Given the description of an element on the screen output the (x, y) to click on. 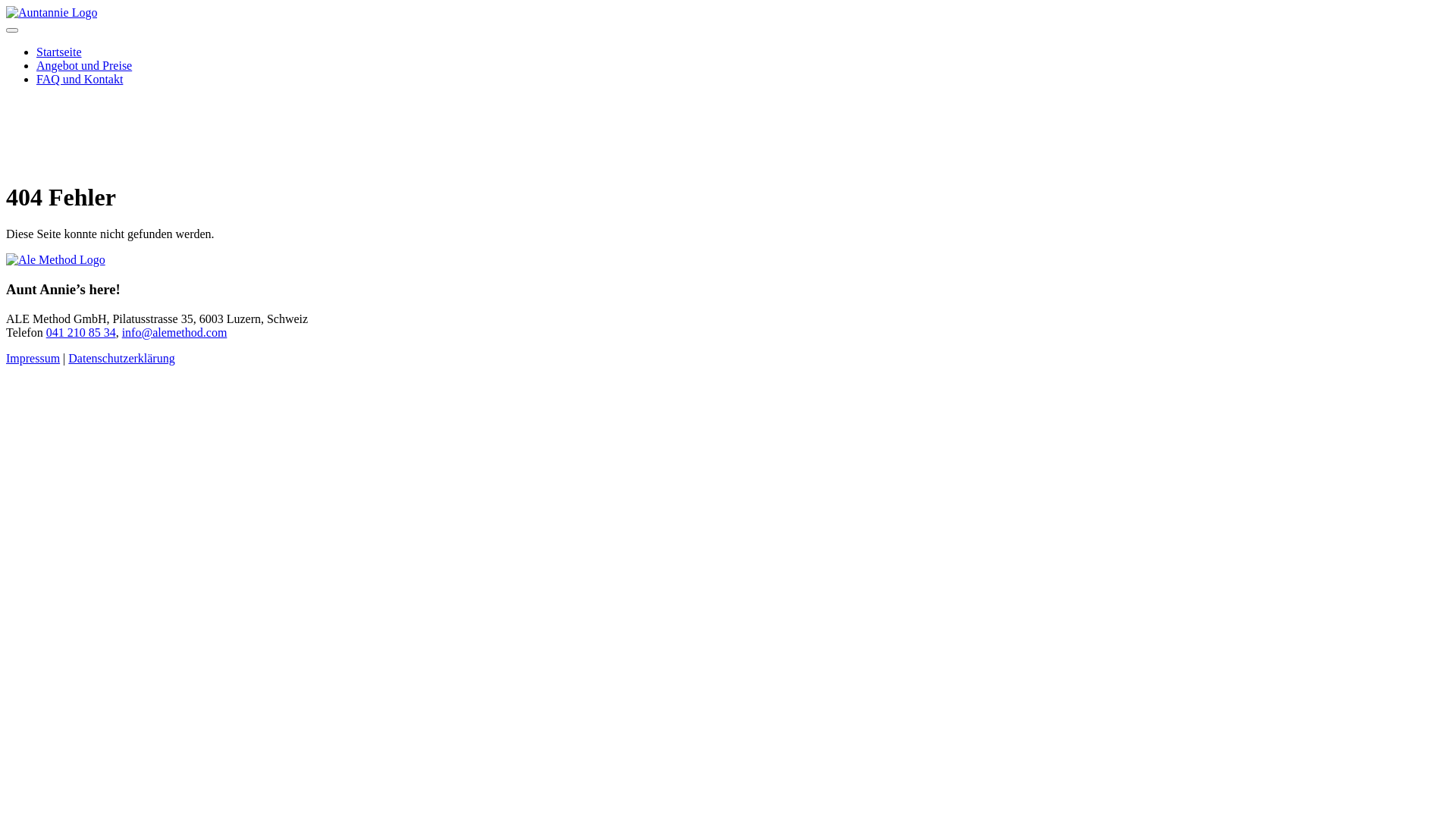
Impressum Element type: text (32, 357)
FAQ und Kontakt Element type: text (79, 78)
Startseite Element type: text (58, 51)
Angebot und Preise Element type: text (83, 65)
Website Logo Element type: text (51, 12)
041 210 85 34 Element type: text (81, 332)
Toggle Button Element type: text (12, 30)
info@alemethod.com Element type: text (174, 332)
